Given the description of an element on the screen output the (x, y) to click on. 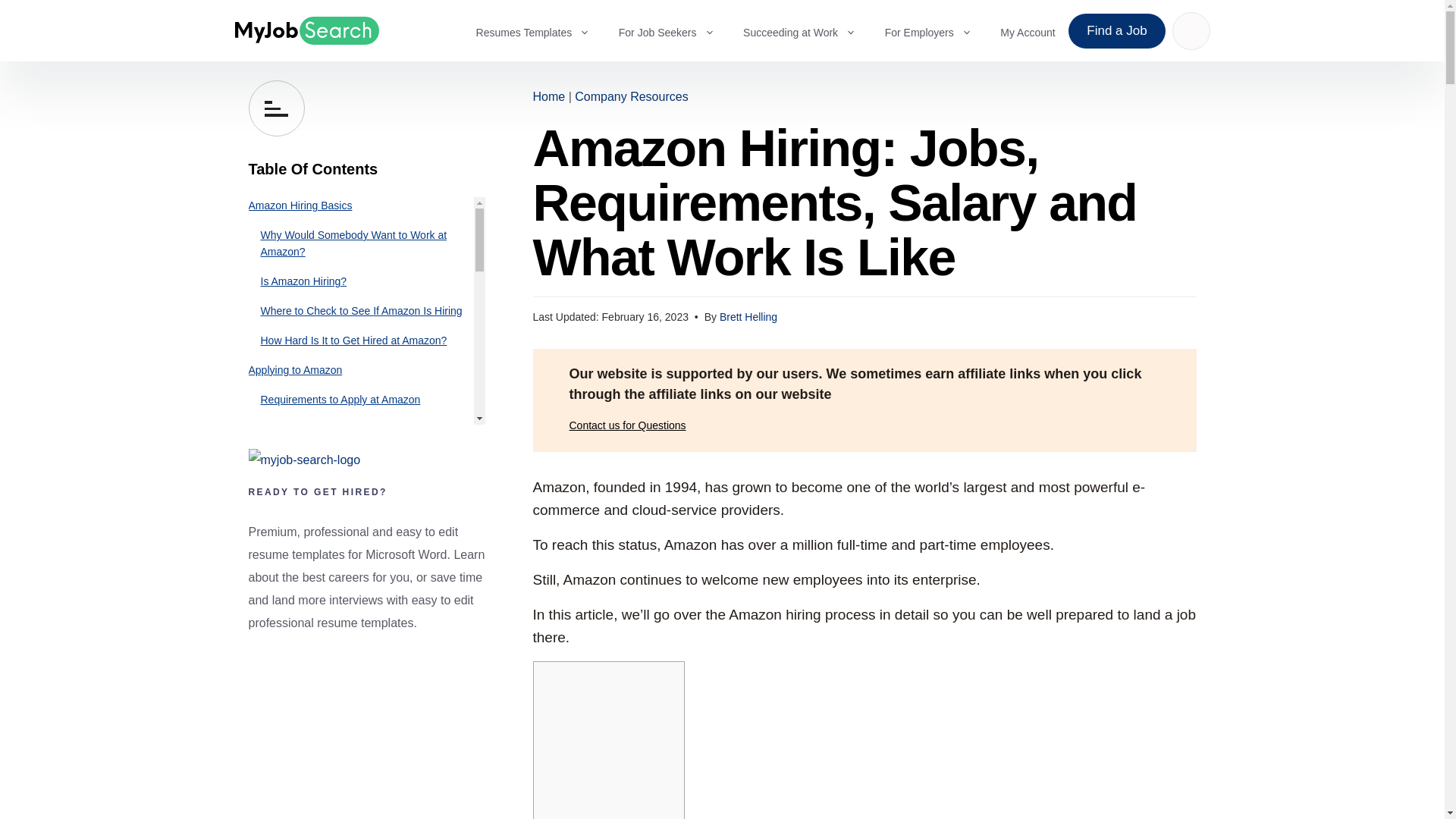
Succeeding at Work (806, 30)
View all posts by Brett Helling (748, 316)
For Job Seekers (674, 30)
Resumes Templates (540, 30)
